Given the description of an element on the screen output the (x, y) to click on. 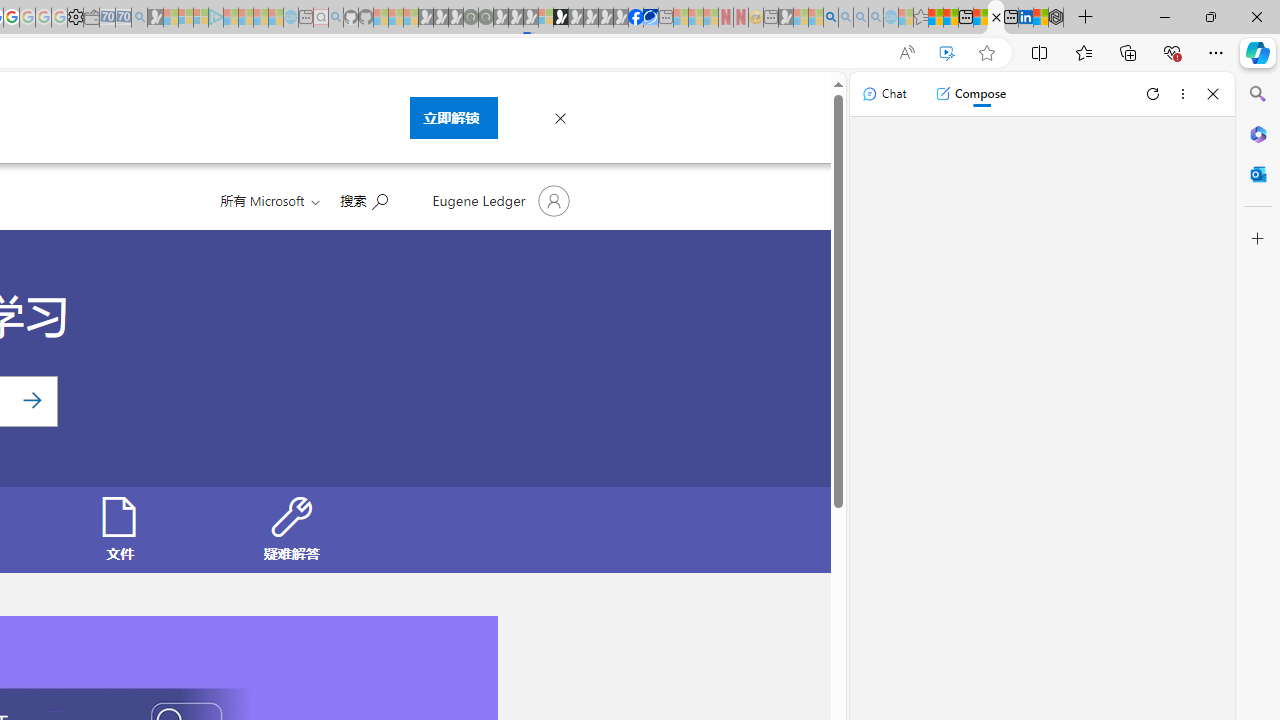
Cheap Car Rentals - Save70.com - Sleeping (123, 17)
Favorites - Sleeping (920, 17)
Settings (75, 17)
New tab - Sleeping (771, 17)
Bing Real Estate - Home sales and rental listings - Sleeping (139, 17)
Enhance video (946, 53)
